Given the description of an element on the screen output the (x, y) to click on. 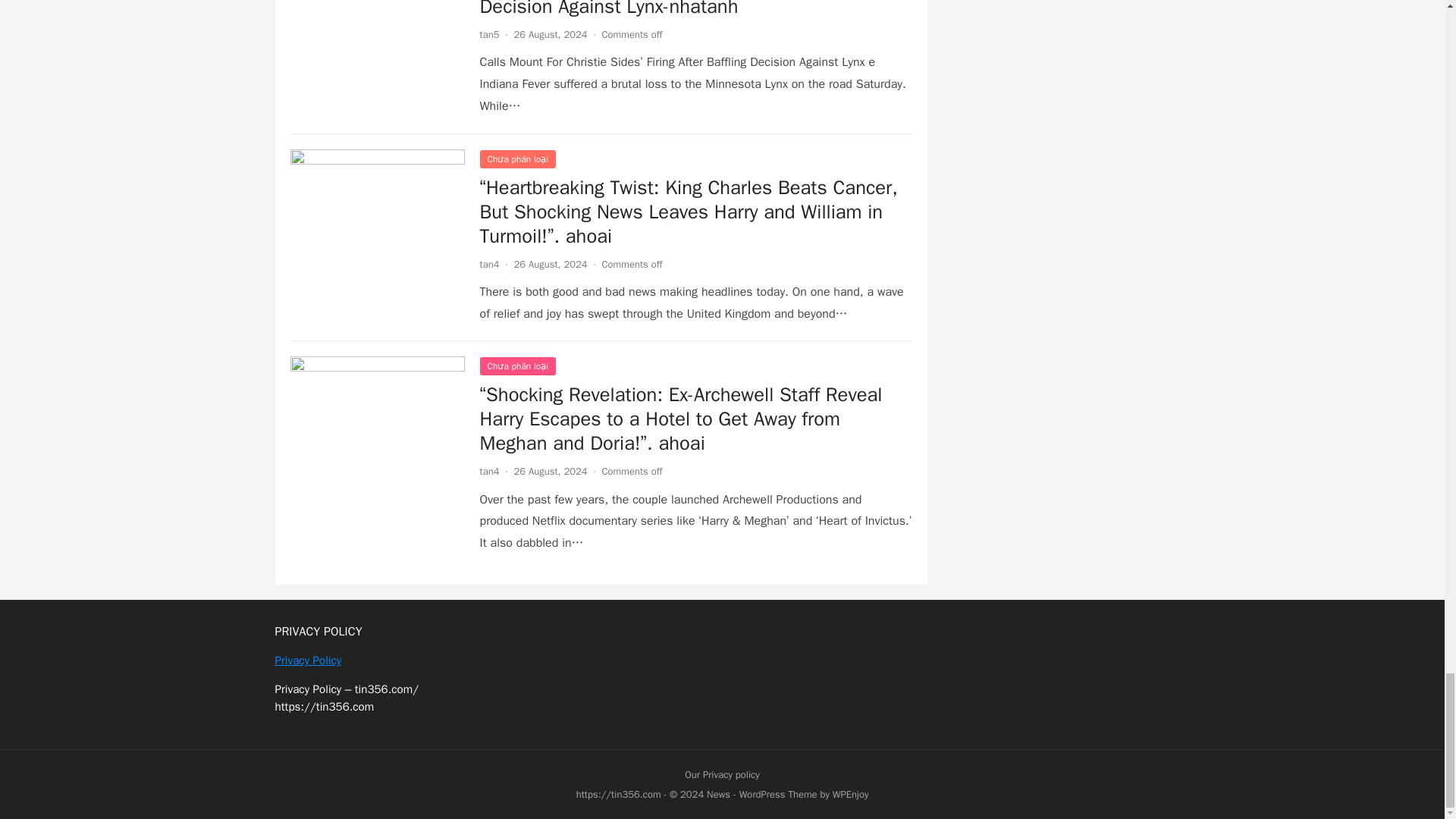
Posts by tan5 (489, 33)
Posts by tan4 (489, 471)
Posts by tan4 (489, 264)
